Given the description of an element on the screen output the (x, y) to click on. 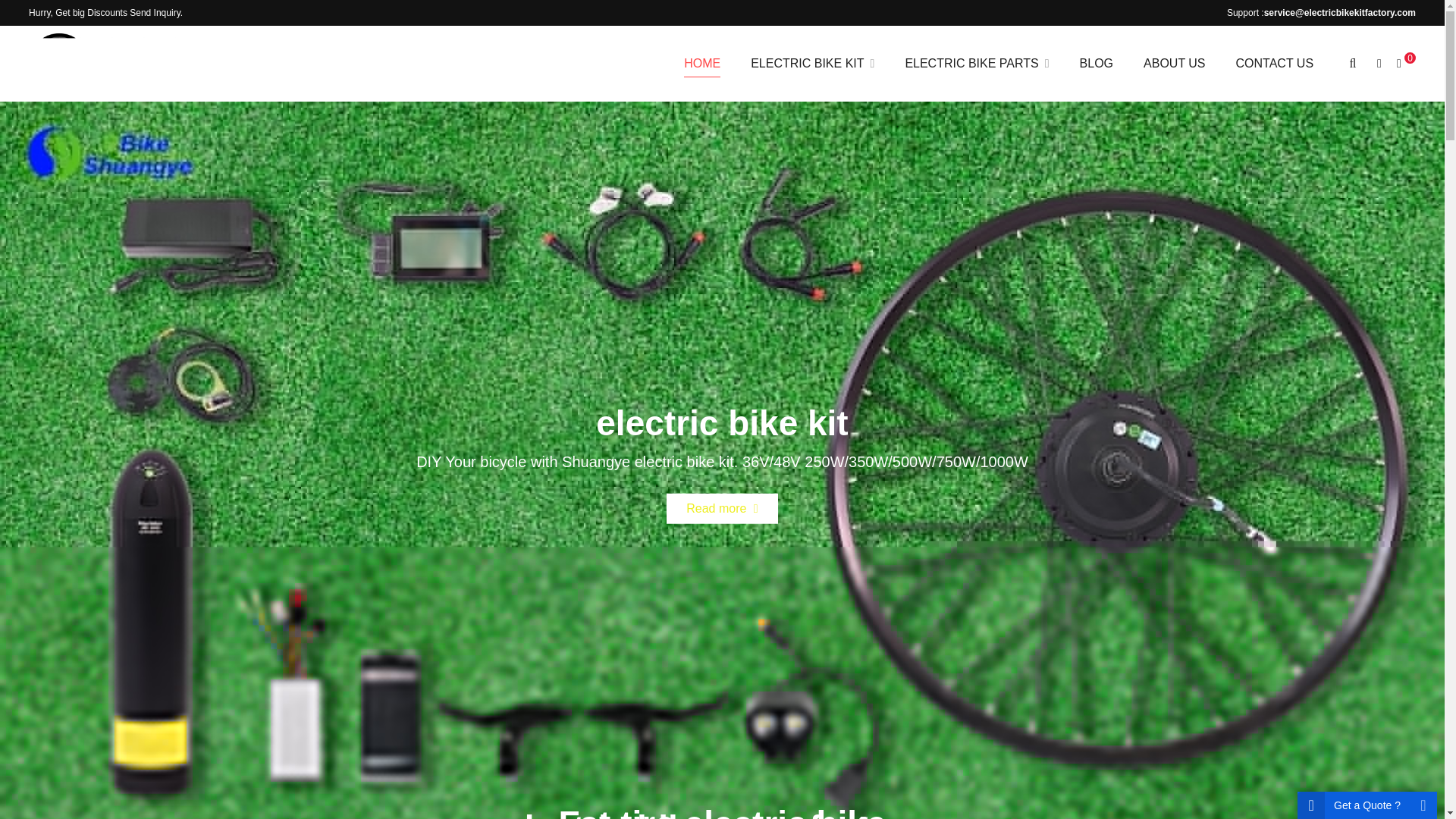
ELECTRIC BIKE KIT (812, 63)
electric bike kit (108, 63)
ABOUT US (1174, 63)
CONTACT US (1275, 63)
Read more (721, 499)
ELECTRIC BIKE PARTS (976, 63)
